Given the description of an element on the screen output the (x, y) to click on. 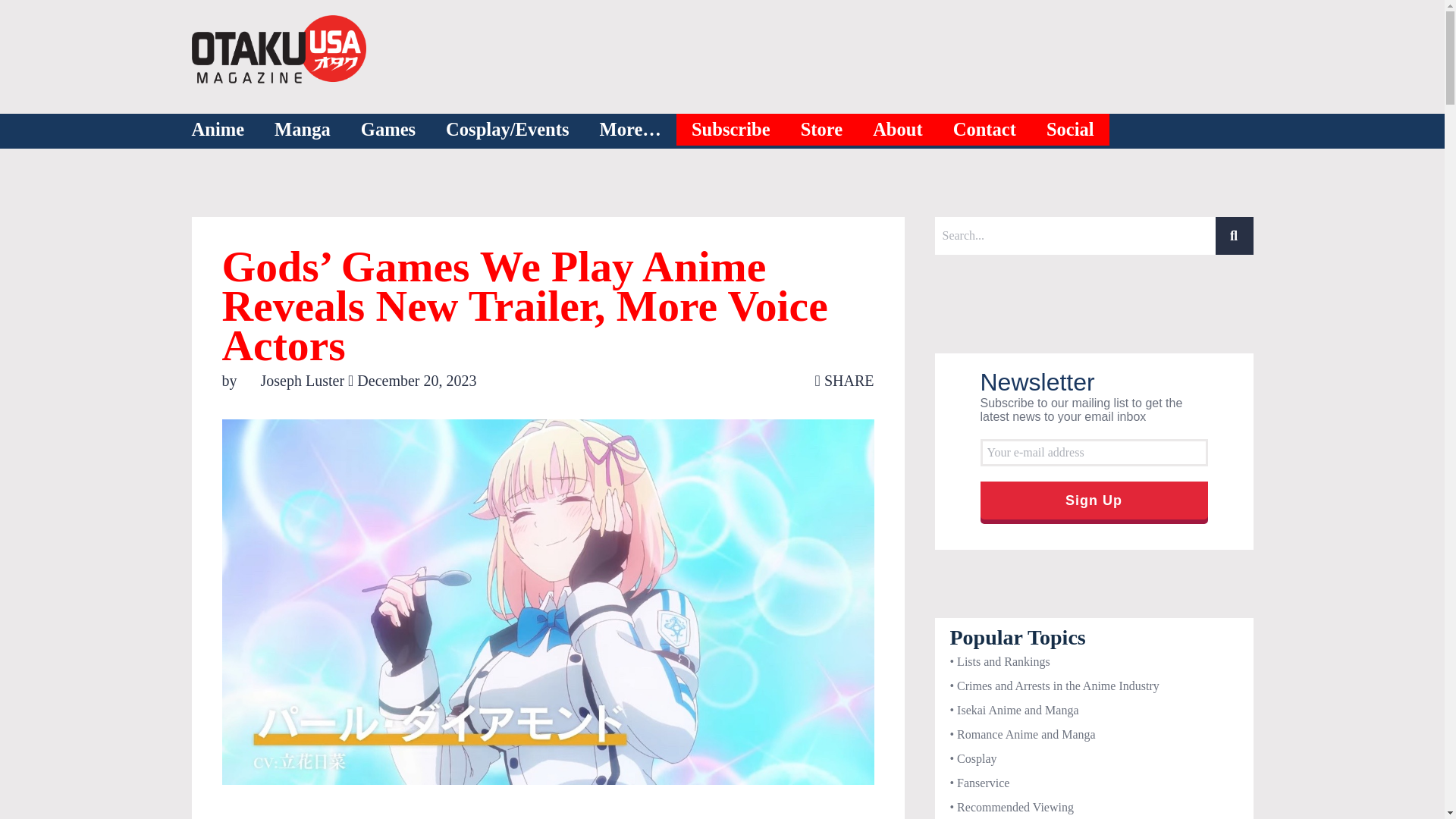
Store (821, 129)
Social (1070, 129)
Joseph Luster (293, 380)
Sign Up (1093, 500)
Games (387, 129)
About (897, 129)
Contact (984, 129)
Subscribe (730, 129)
Manga (302, 129)
SHARE (845, 380)
